Given the description of an element on the screen output the (x, y) to click on. 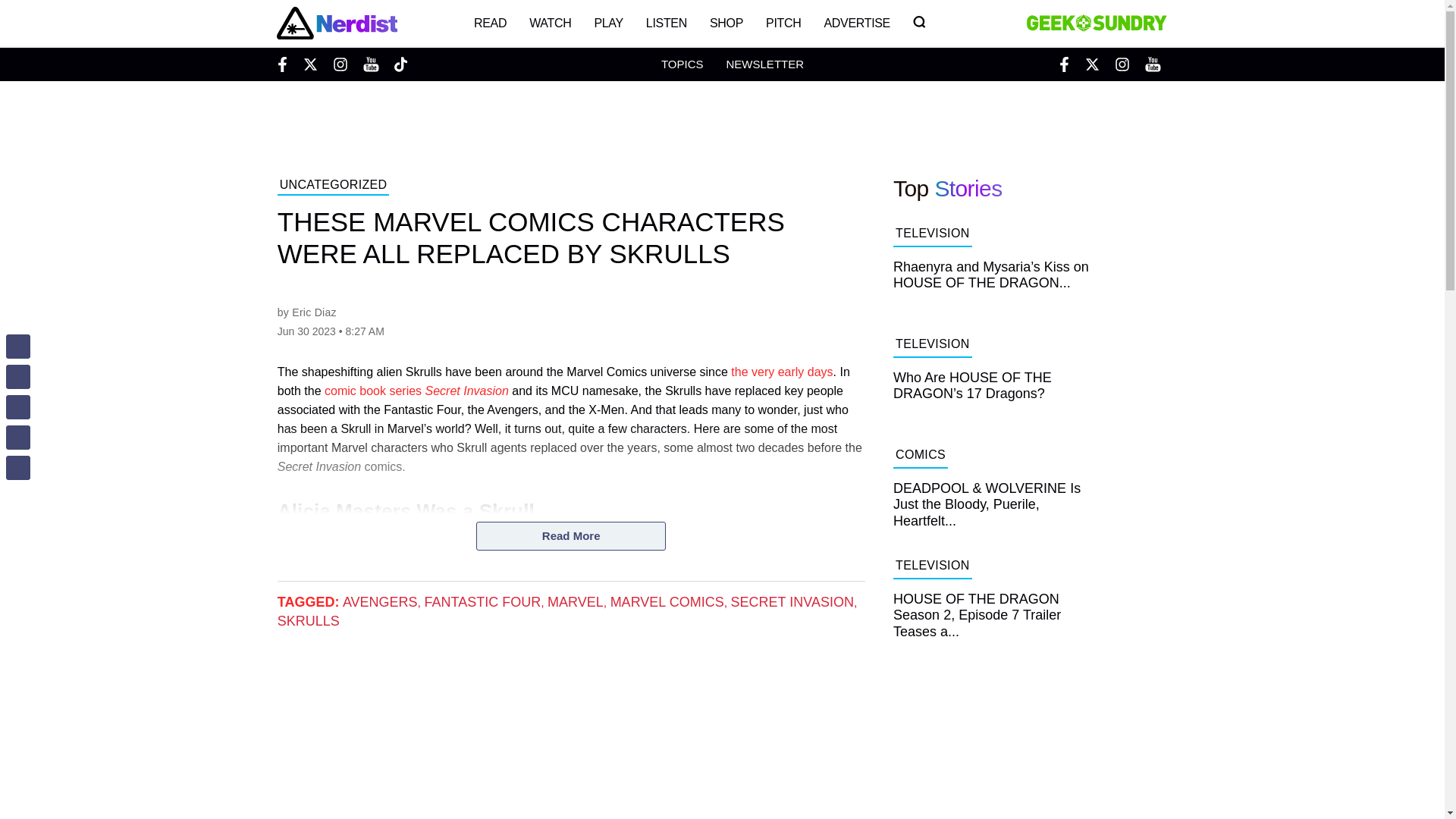
Nerdist (336, 23)
SECRET INVASION (791, 601)
READ (490, 22)
Youtube Nerdist (370, 63)
LISTEN (666, 22)
Eric Diaz (314, 312)
NEWSLETTER (764, 63)
comic book series Secret Invasion (416, 390)
Twitter Nerdist (309, 63)
TOPICS (681, 63)
TELEVISION (932, 235)
PLAY (607, 22)
WATCH (550, 22)
Topics (681, 63)
SHOP (726, 22)
